Given the description of an element on the screen output the (x, y) to click on. 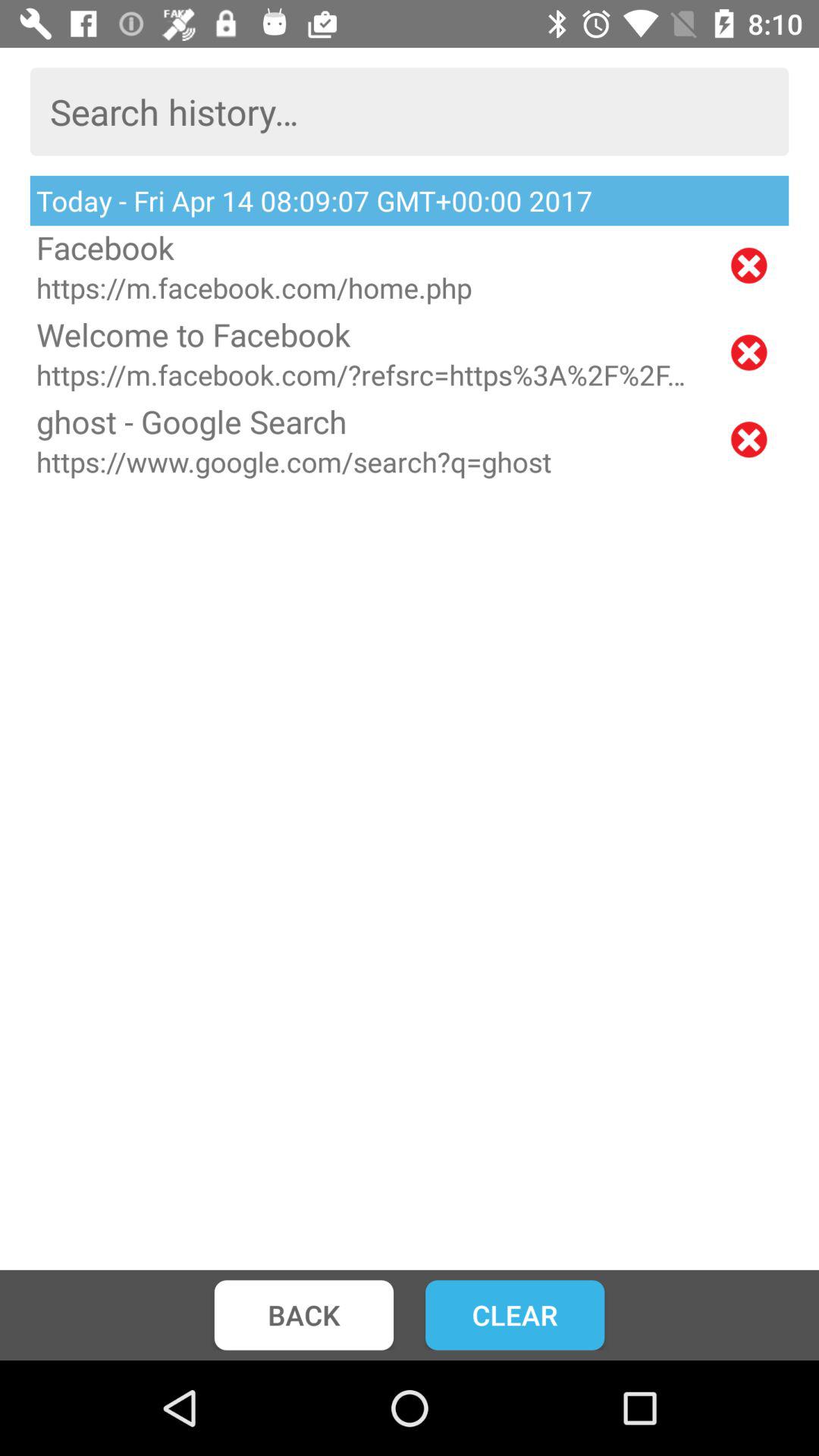
tap clear (514, 1315)
